Given the description of an element on the screen output the (x, y) to click on. 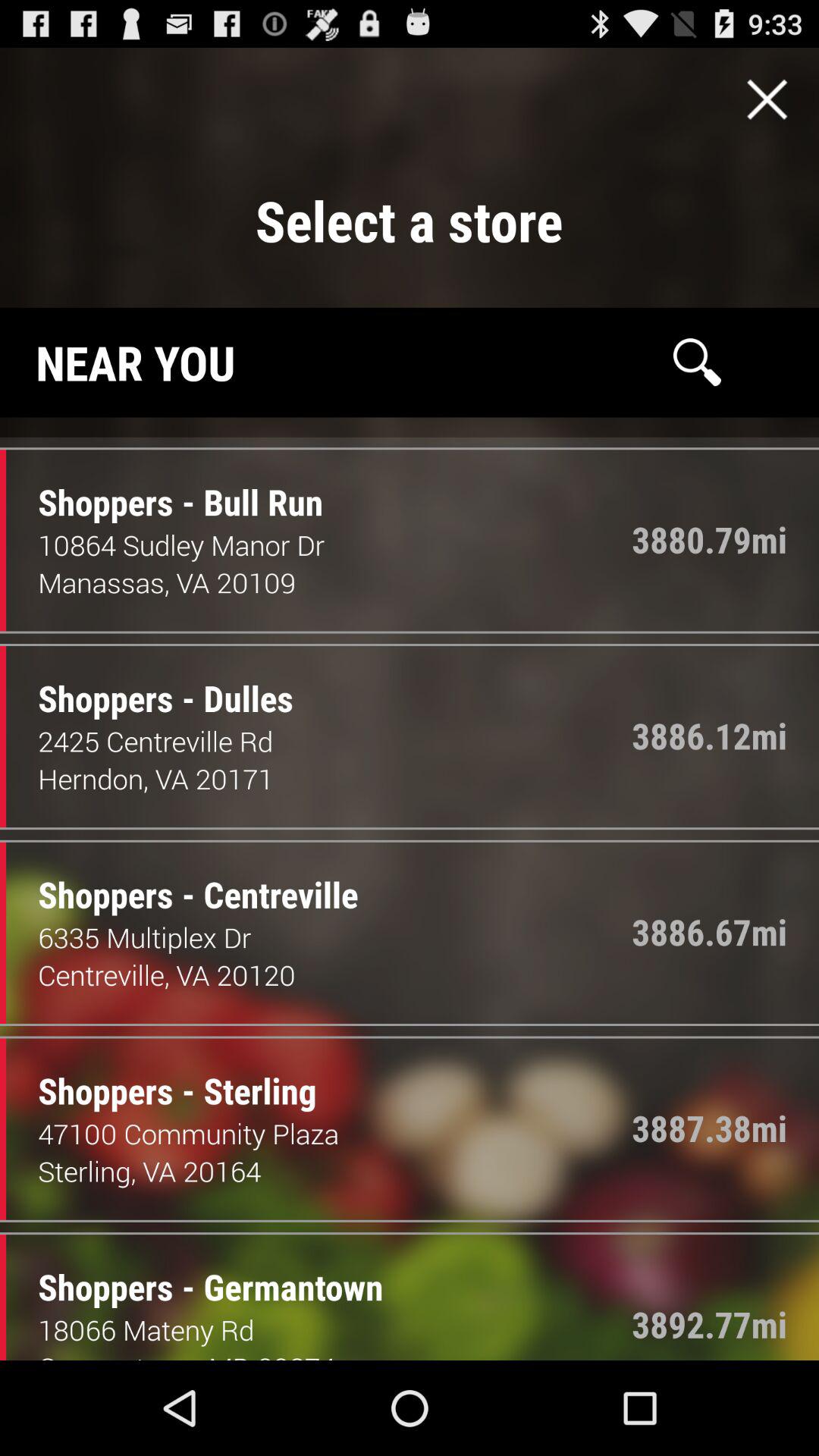
open the item below the 10864 sudley manor icon (237, 582)
